Given the description of an element on the screen output the (x, y) to click on. 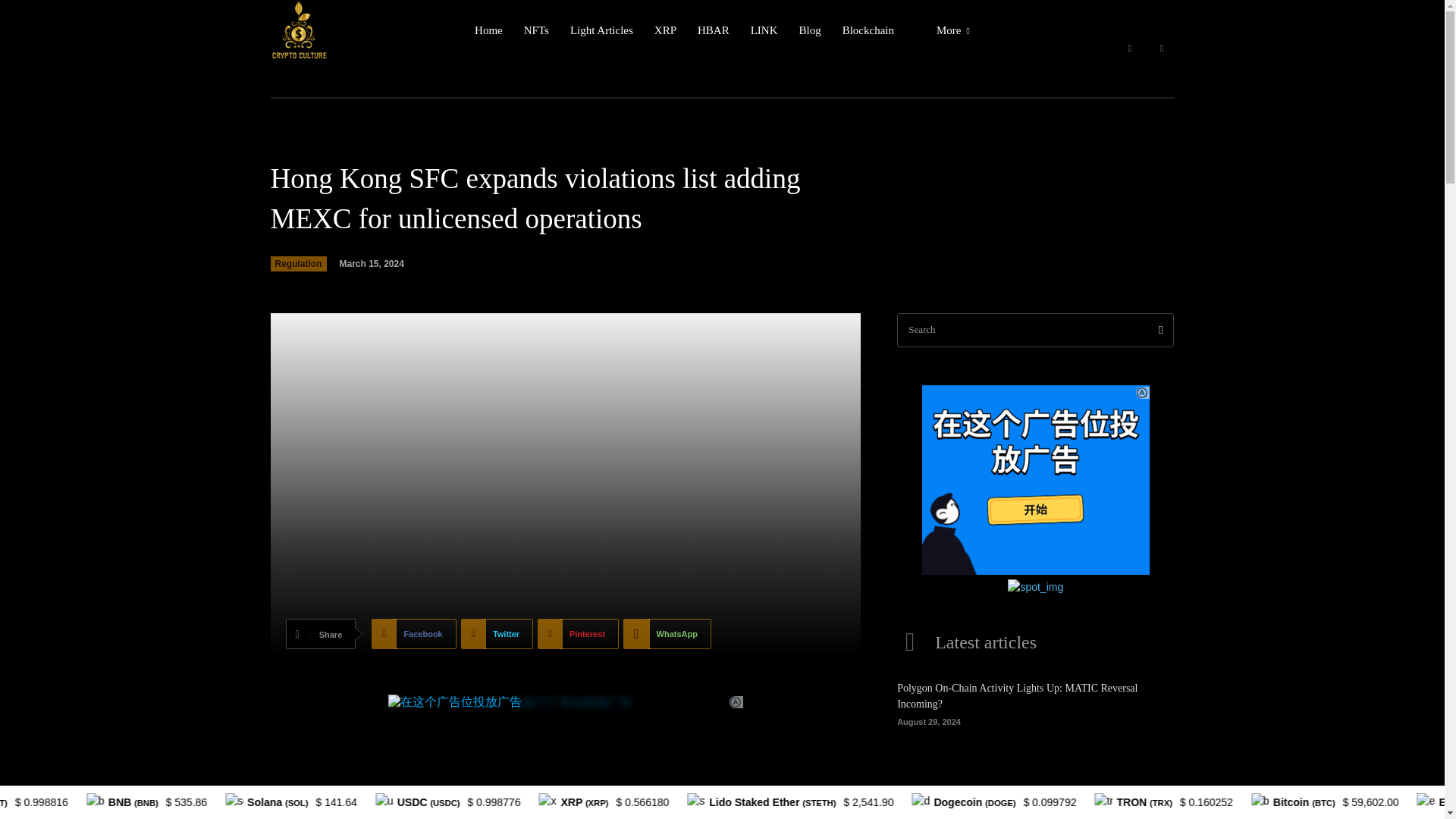
WhatsApp (667, 634)
Pinterest (577, 634)
Facebook (413, 634)
Twitter (496, 634)
Twitter (1162, 48)
Instagram (1130, 48)
